Given the description of an element on the screen output the (x, y) to click on. 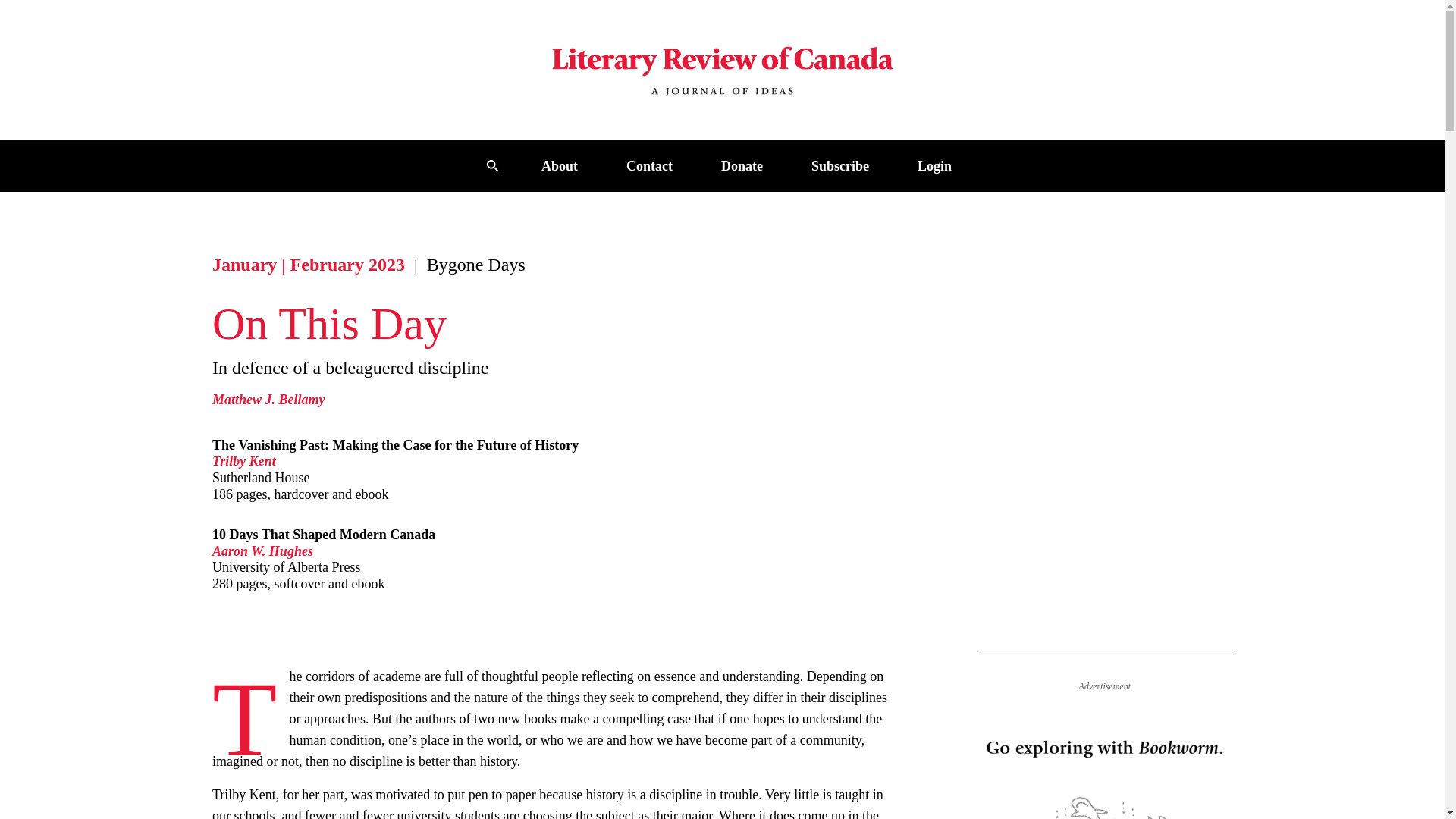
About (559, 165)
Matthew J. Bellamy (268, 399)
Subscribe (840, 165)
Login (934, 165)
Contact (649, 165)
Donate (742, 165)
